Given the description of an element on the screen output the (x, y) to click on. 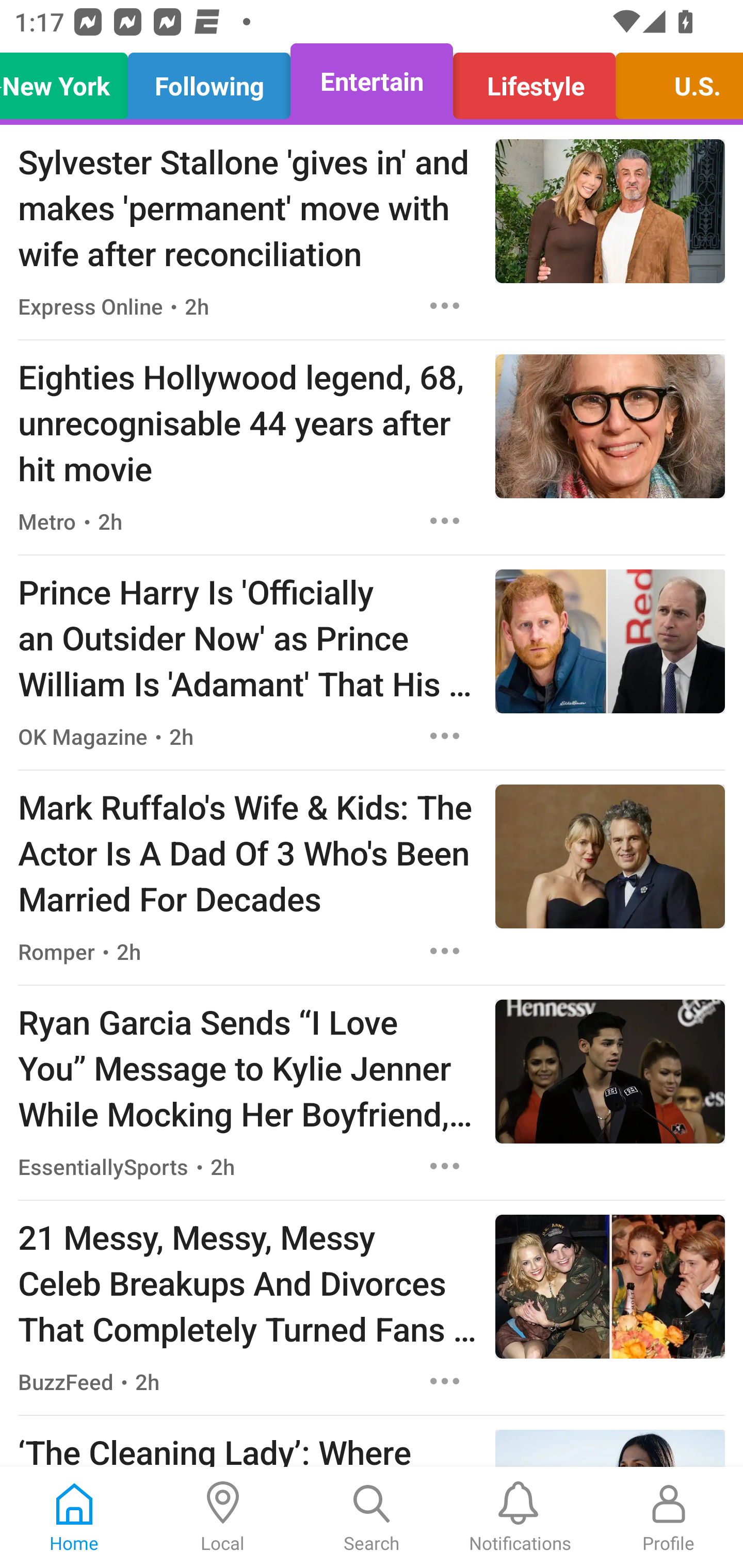
➣New York (69, 81)
Following (209, 81)
Entertain (371, 81)
Lifestyle (534, 81)
U.S. (673, 81)
Options (444, 305)
Options (444, 520)
Options (444, 736)
Options (444, 950)
Options (444, 1166)
Options (444, 1381)
Local (222, 1517)
Search (371, 1517)
Notifications (519, 1517)
Profile (668, 1517)
